Given the description of an element on the screen output the (x, y) to click on. 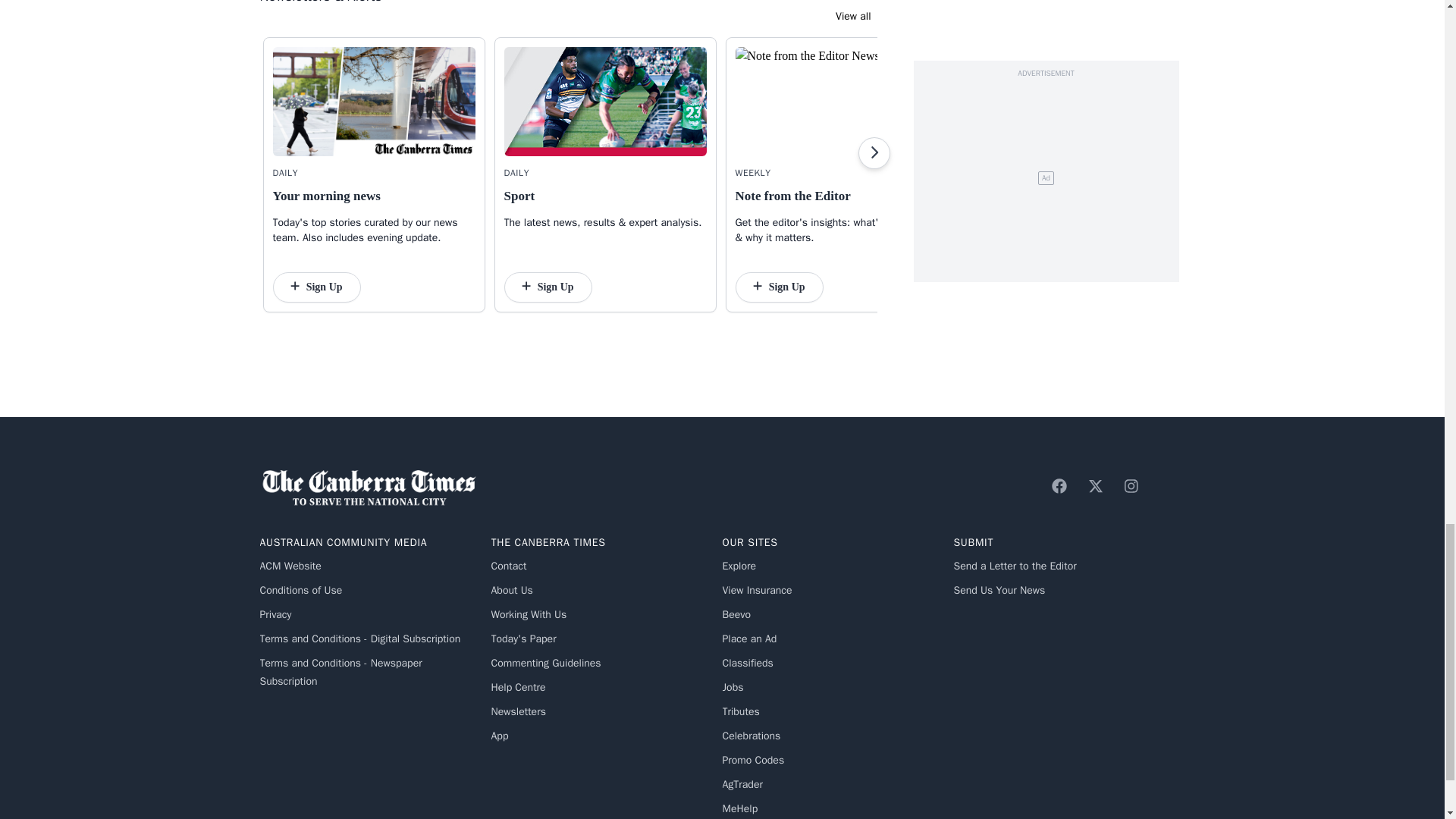
Sport Newsletter (604, 101)
Your morning news Newsletter (374, 101)
Note from the Editor Newsletter (836, 101)
